Given the description of an element on the screen output the (x, y) to click on. 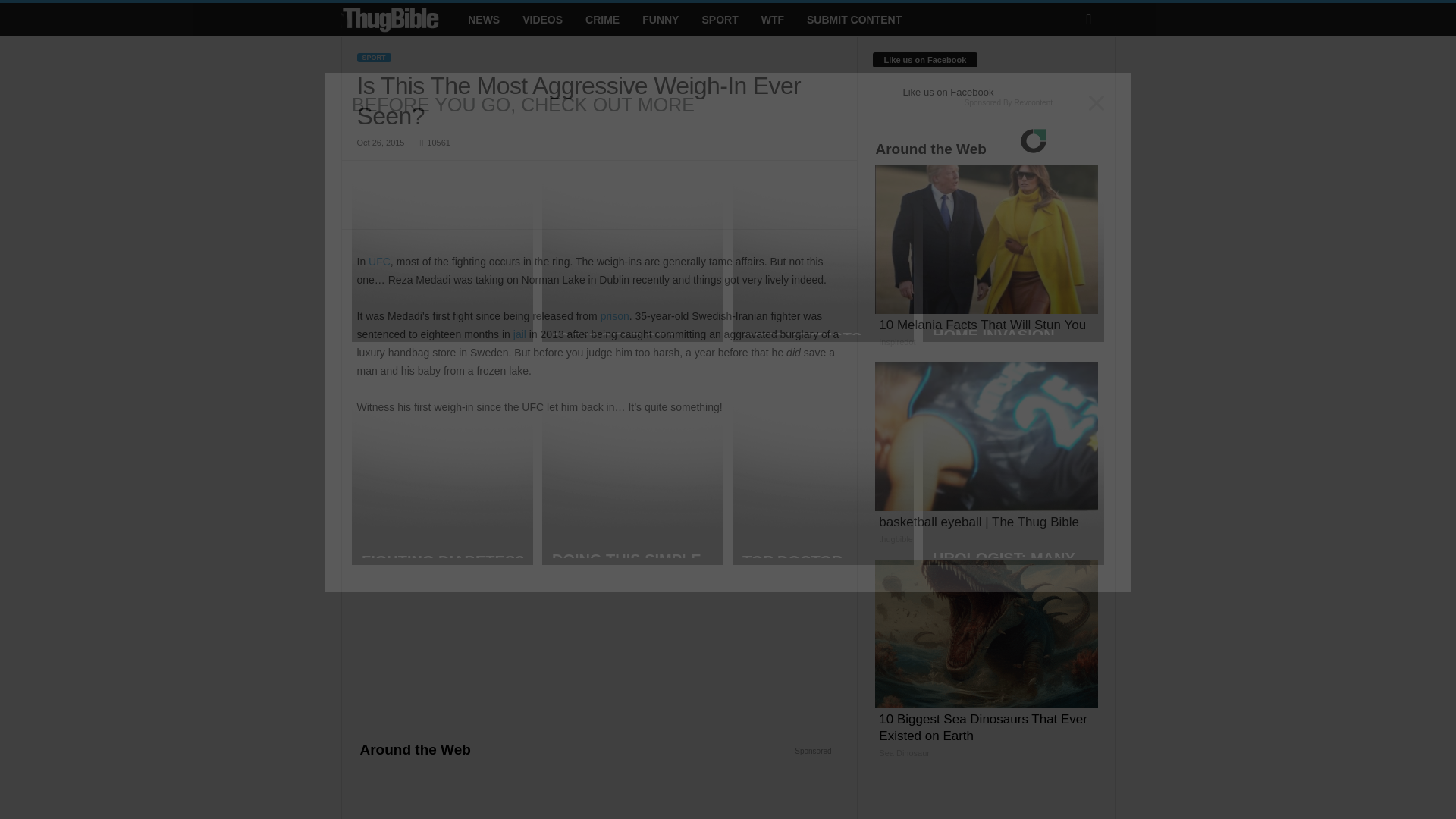
10 Biggest Sea Dinosaurs That Ever Existed on Earth (437, 792)
VIDEOS (542, 19)
CRIME (601, 19)
FUNNY (660, 19)
YouTube player (598, 571)
UFC (379, 261)
The Thug Bible (398, 19)
jail  (521, 334)
Thug Bible (390, 19)
SUBMIT CONTENT (853, 19)
WTF (771, 19)
NEWS (484, 19)
SPORT (373, 57)
20 Extremely Special Beaches Around the World (761, 792)
prison (613, 316)
